Given the description of an element on the screen output the (x, y) to click on. 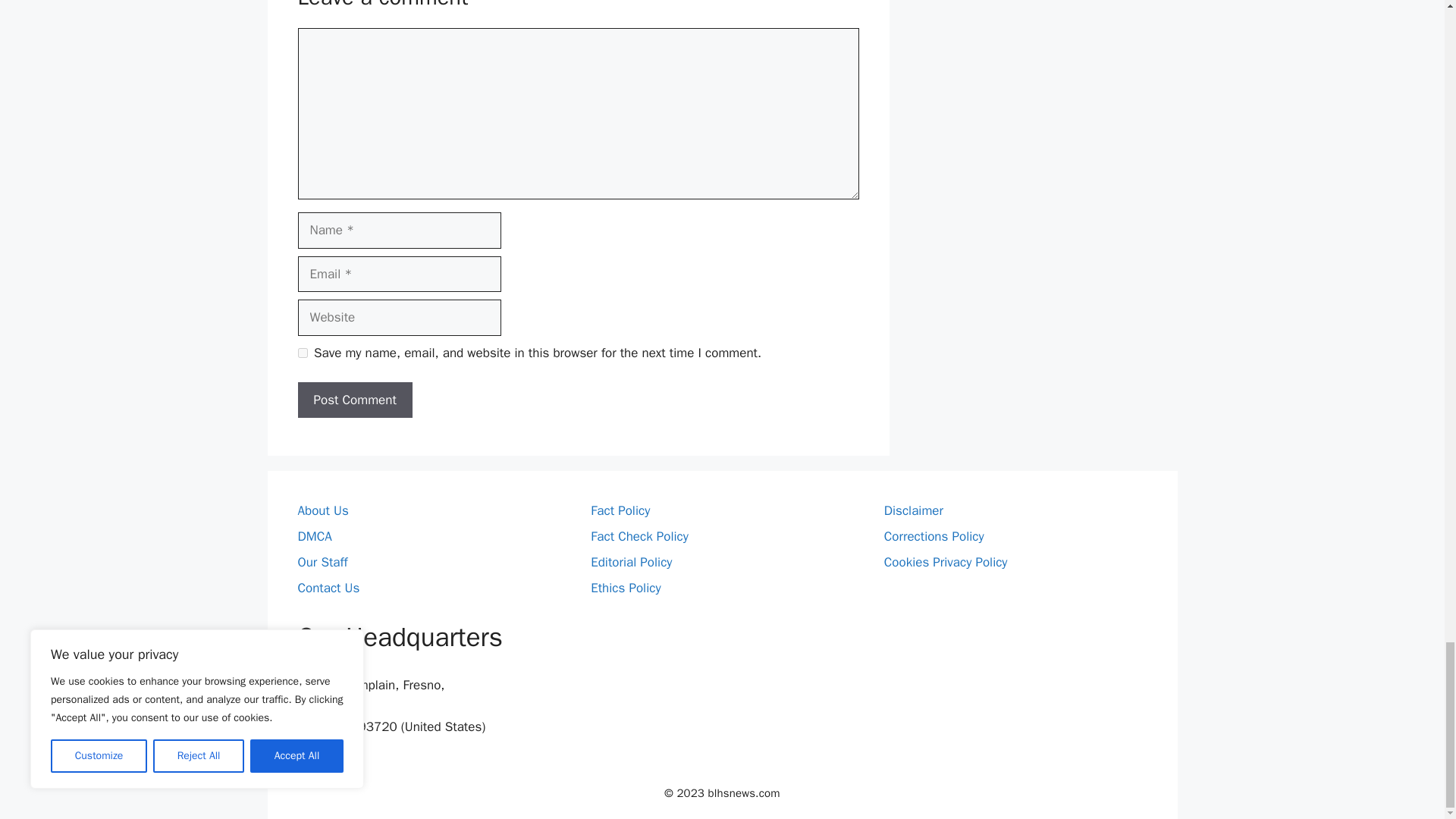
Post Comment (354, 400)
yes (302, 352)
Post Comment (354, 400)
